Given the description of an element on the screen output the (x, y) to click on. 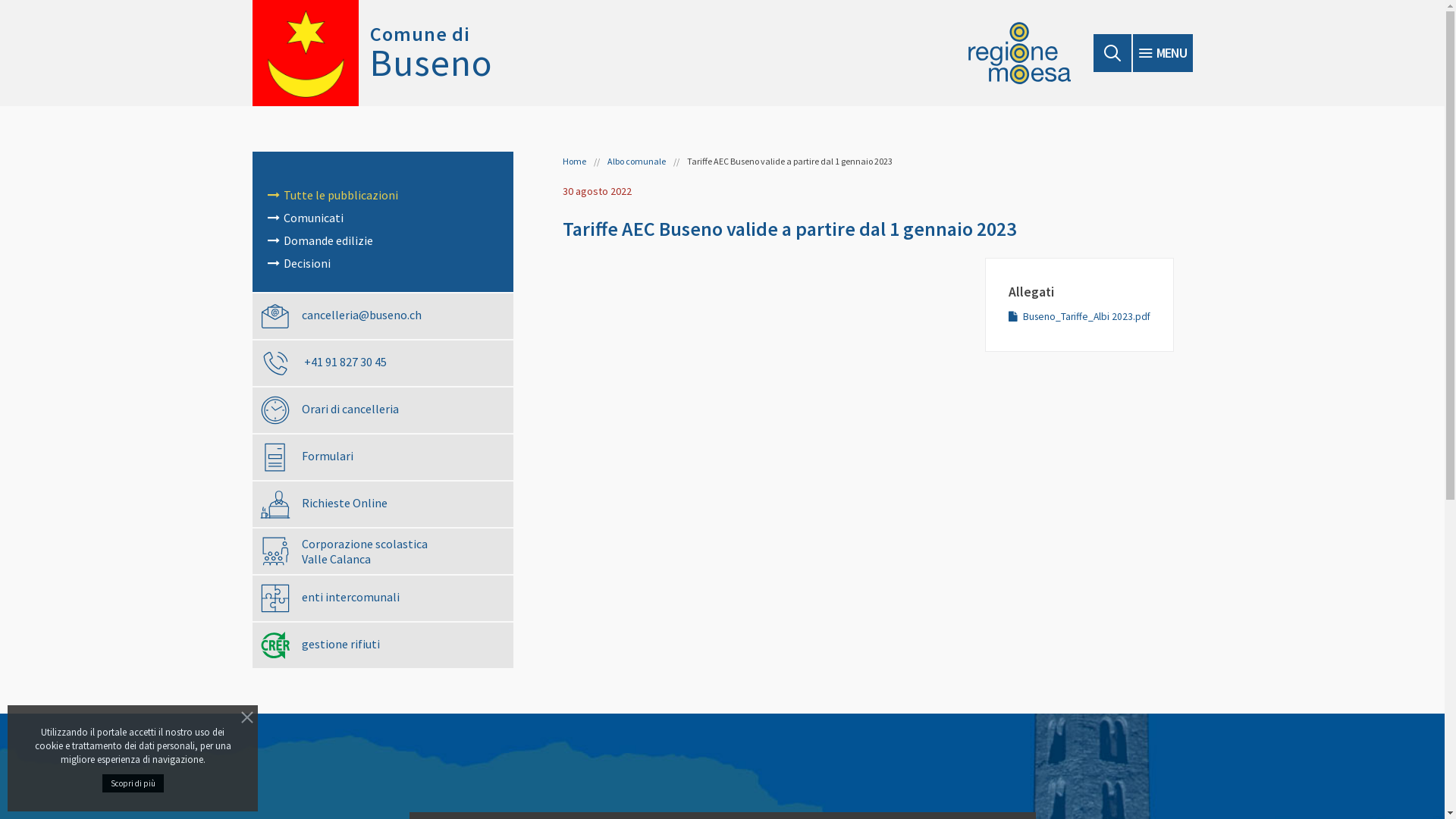
Home Element type: text (574, 160)
Decisioni Element type: text (381, 263)
Protezione dati Element type: text (1155, 609)
Orari di cancelleria Element type: text (381, 410)
Formulari Element type: text (381, 457)
 +41 91 827 30 45 Element type: text (381, 362)
enti intercomunali Element type: text (381, 598)
Scarica questo file (Buseno_Tariffe_Albi 2023.pdf) Element type: hover (1015, 315)
Albo comunale Element type: text (635, 160)
Tutte le pubblicazioni Element type: text (381, 194)
gestione rifiuti Element type: text (381, 645)
Sitemap Element type: text (1173, 592)
cancelleria@buseno.ch Element type: text (381, 315)
Domande edilizie Element type: text (381, 240)
Comunicati Element type: text (381, 217)
MENU Element type: text (1162, 53)
Impressum Element type: text (1166, 625)
Corporazione scolastica
Valle Calanca Element type: text (381, 551)
Comune di
Buseno Element type: text (371, 53)
Buseno_Tariffe_Albi 2023.pdf Element type: text (1085, 316)
Richieste Online Element type: text (381, 504)
